Given the description of an element on the screen output the (x, y) to click on. 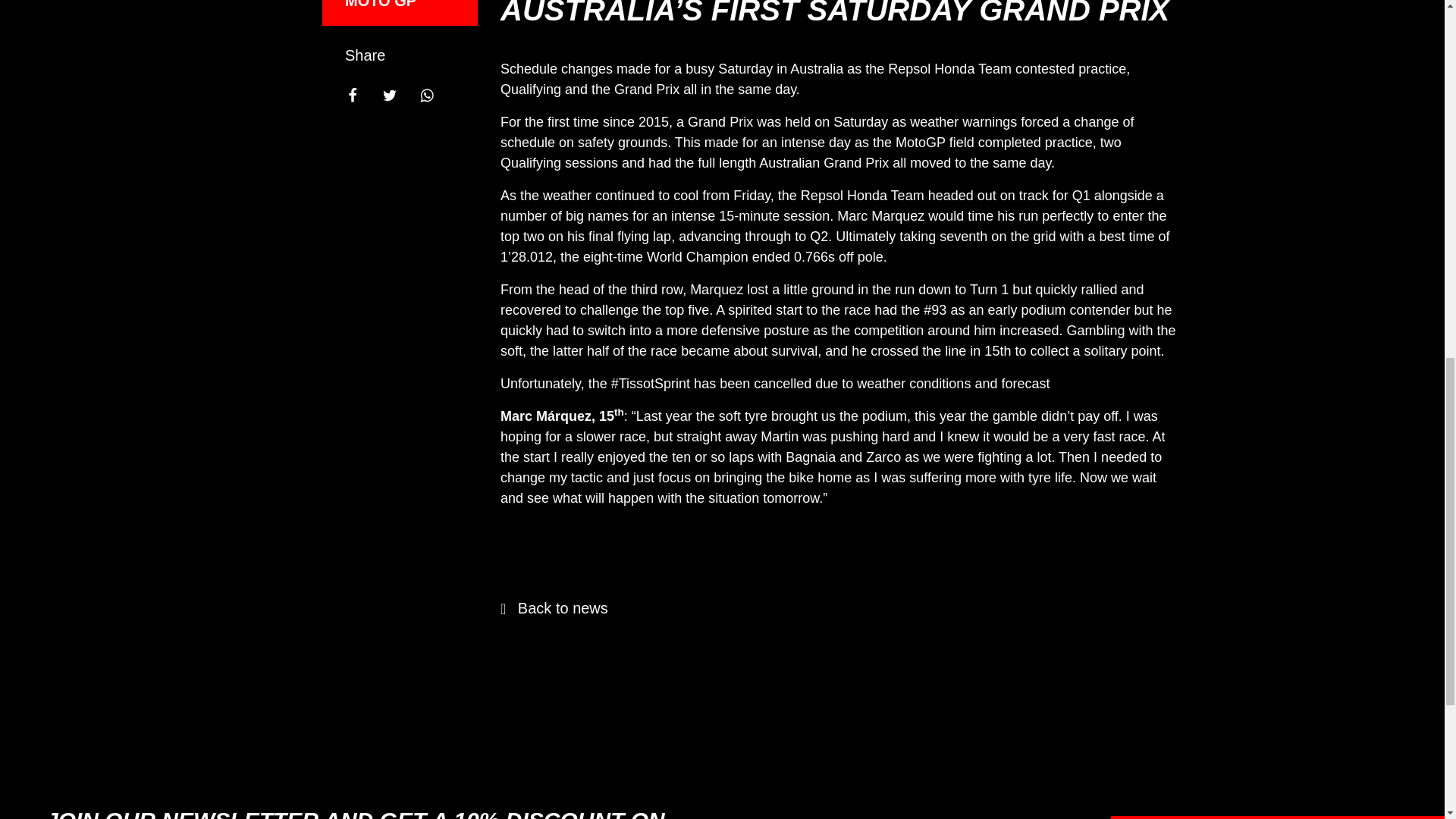
Share on WhatsApp (434, 89)
Share on Facebook (360, 89)
Share on Twitter (396, 89)
Back to news (554, 608)
